Given the description of an element on the screen output the (x, y) to click on. 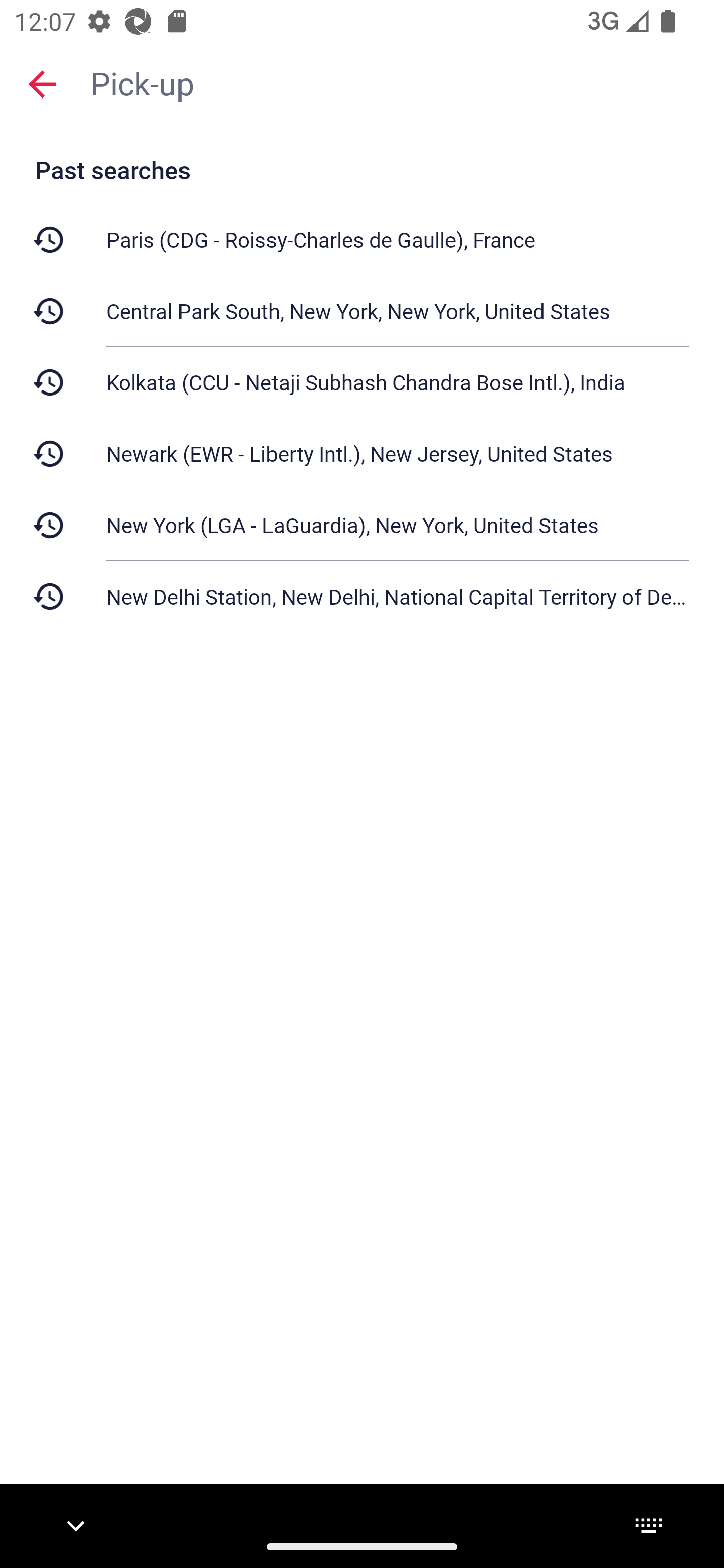
Close search screen (42, 84)
Pick-up,  (397, 82)
